Given the description of an element on the screen output the (x, y) to click on. 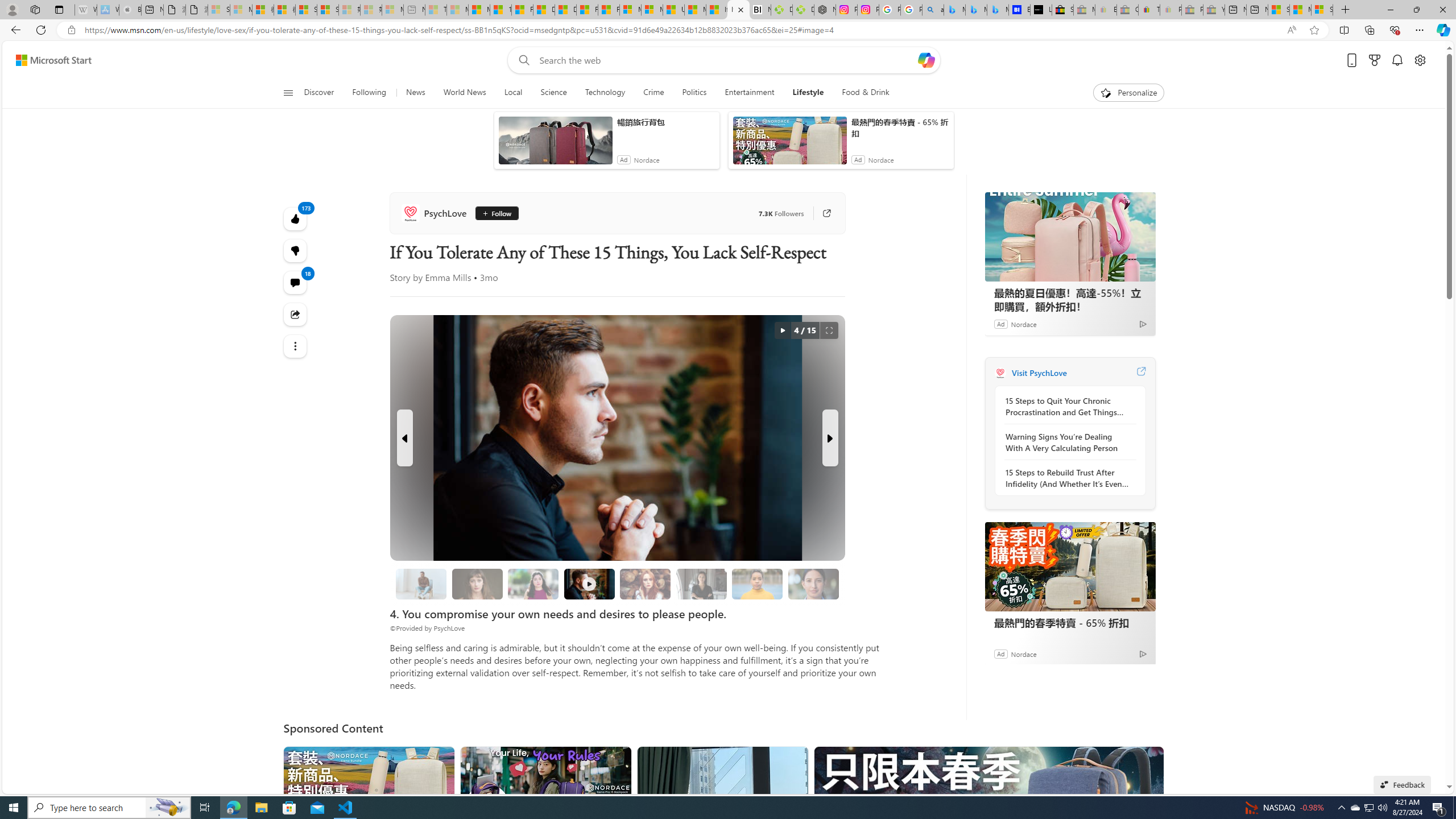
4. You can name and understand your feelings. (533, 583)
Sign in to your Microsoft account - Sleeping (218, 9)
Microsoft account | Account Checkup - Sleeping (392, 9)
